Given the description of an element on the screen output the (x, y) to click on. 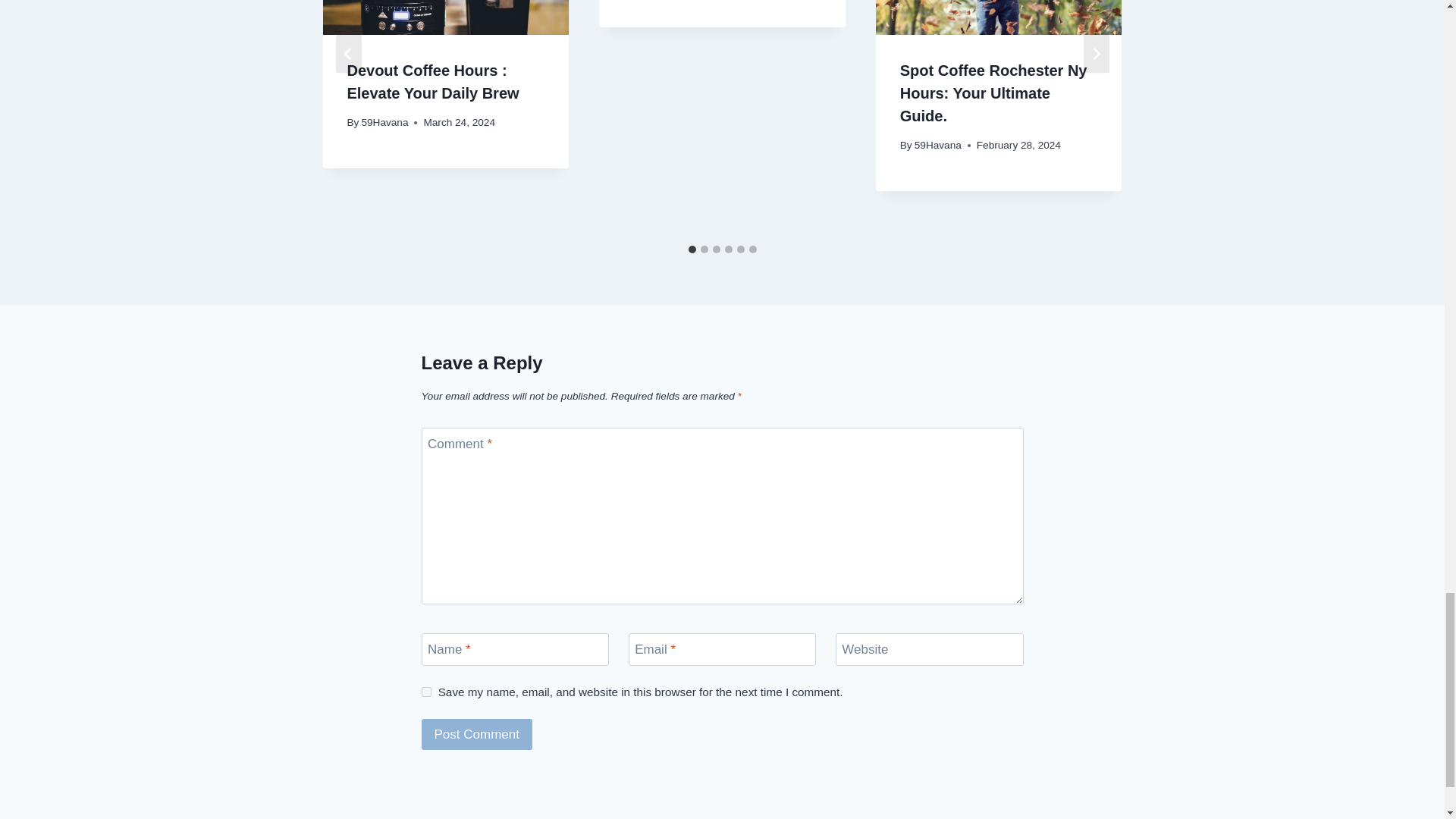
yes (426, 691)
Post Comment (477, 734)
